Given the description of an element on the screen output the (x, y) to click on. 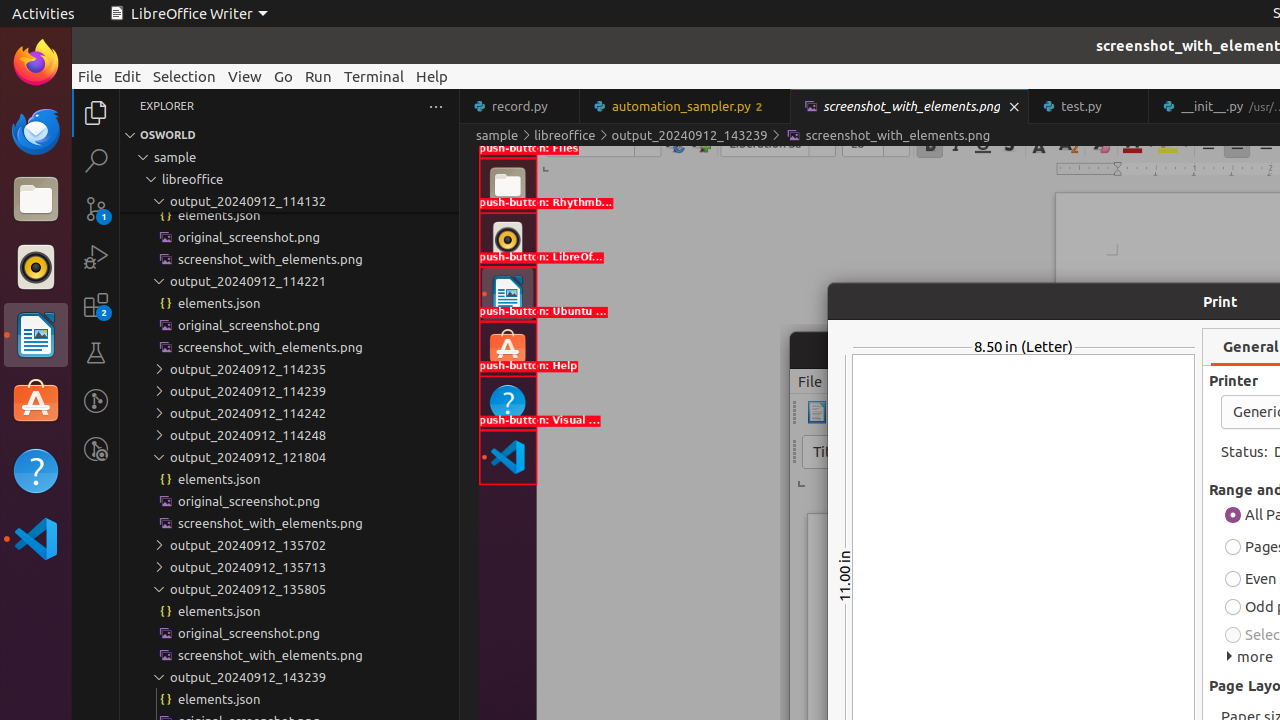
Rhythmbox Element type: push-button (36, 267)
LibreOffice Writer Element type: push-button (36, 334)
Files Element type: push-button (36, 199)
LibreOffice Writer Element type: menu (188, 13)
Ubuntu Software Element type: push-button (36, 402)
